Given the description of an element on the screen output the (x, y) to click on. 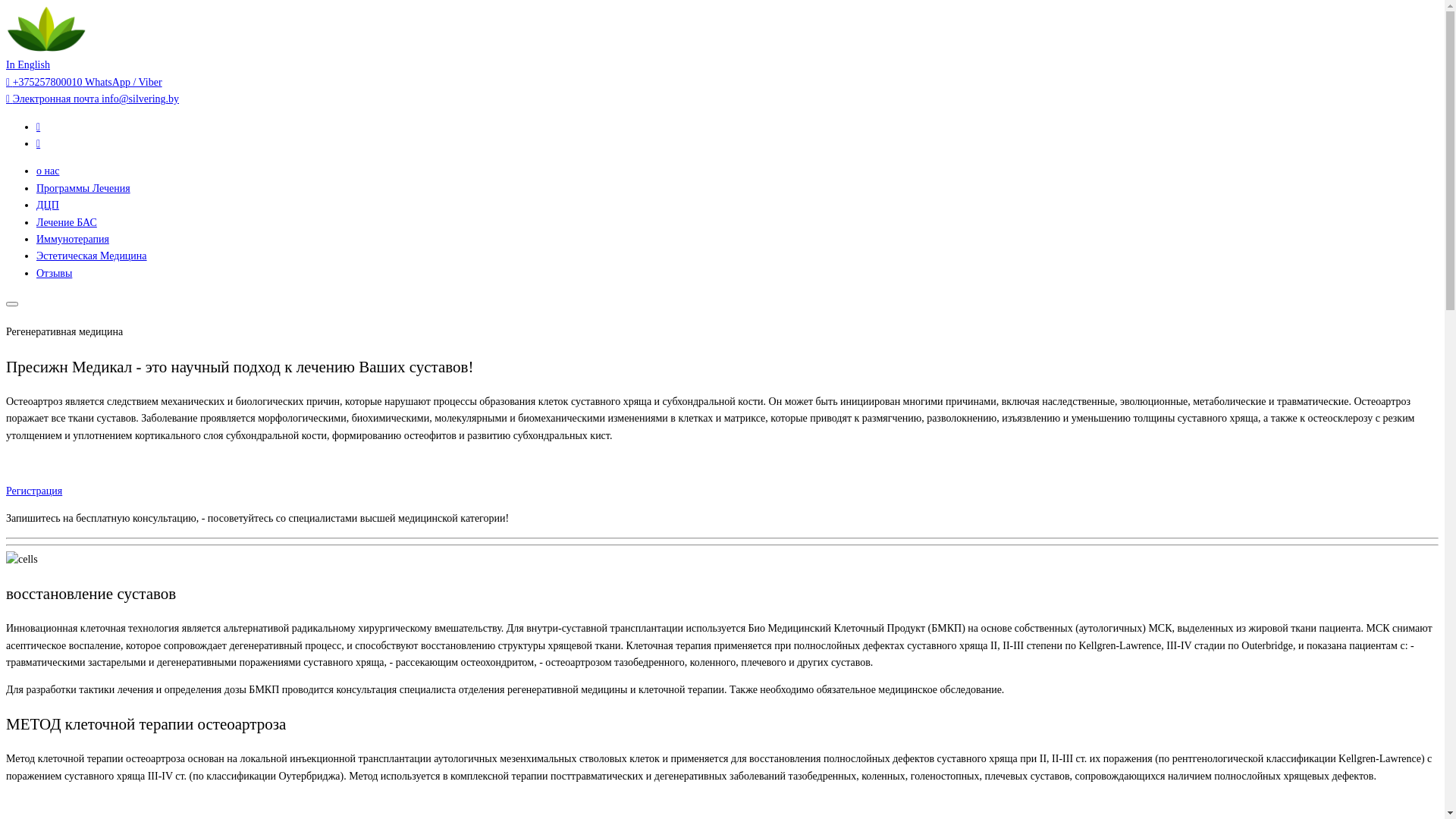
In English Element type: text (28, 64)
+375257800010 WhatsApp / Viber Element type: text (84, 81)
